Given the description of an element on the screen output the (x, y) to click on. 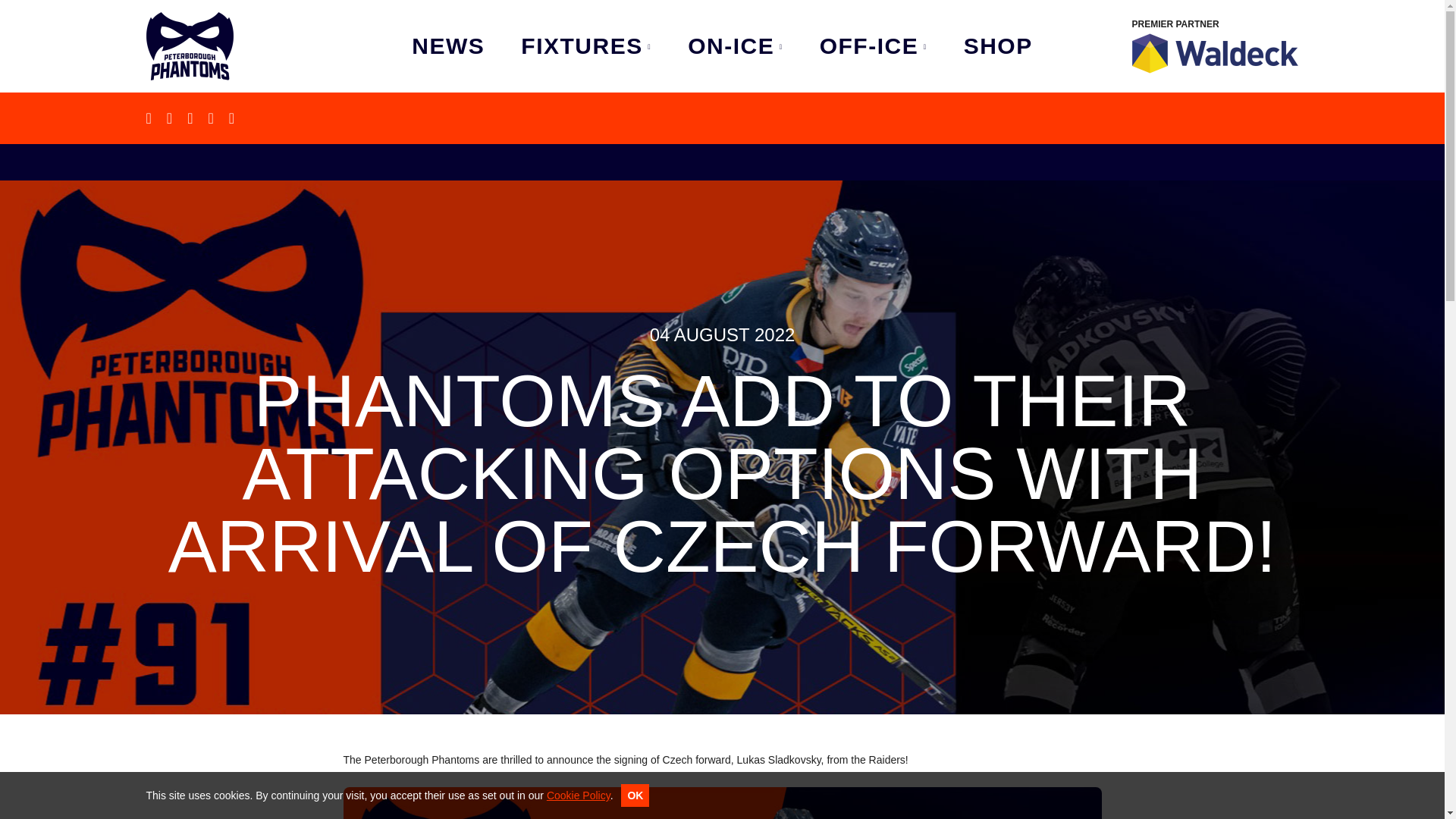
NEWS (448, 45)
ON-ICE (735, 45)
FIXTURES (585, 45)
SHOP (997, 45)
OFF-ICE (873, 45)
PREMIER PARTNER (1214, 46)
